Given the description of an element on the screen output the (x, y) to click on. 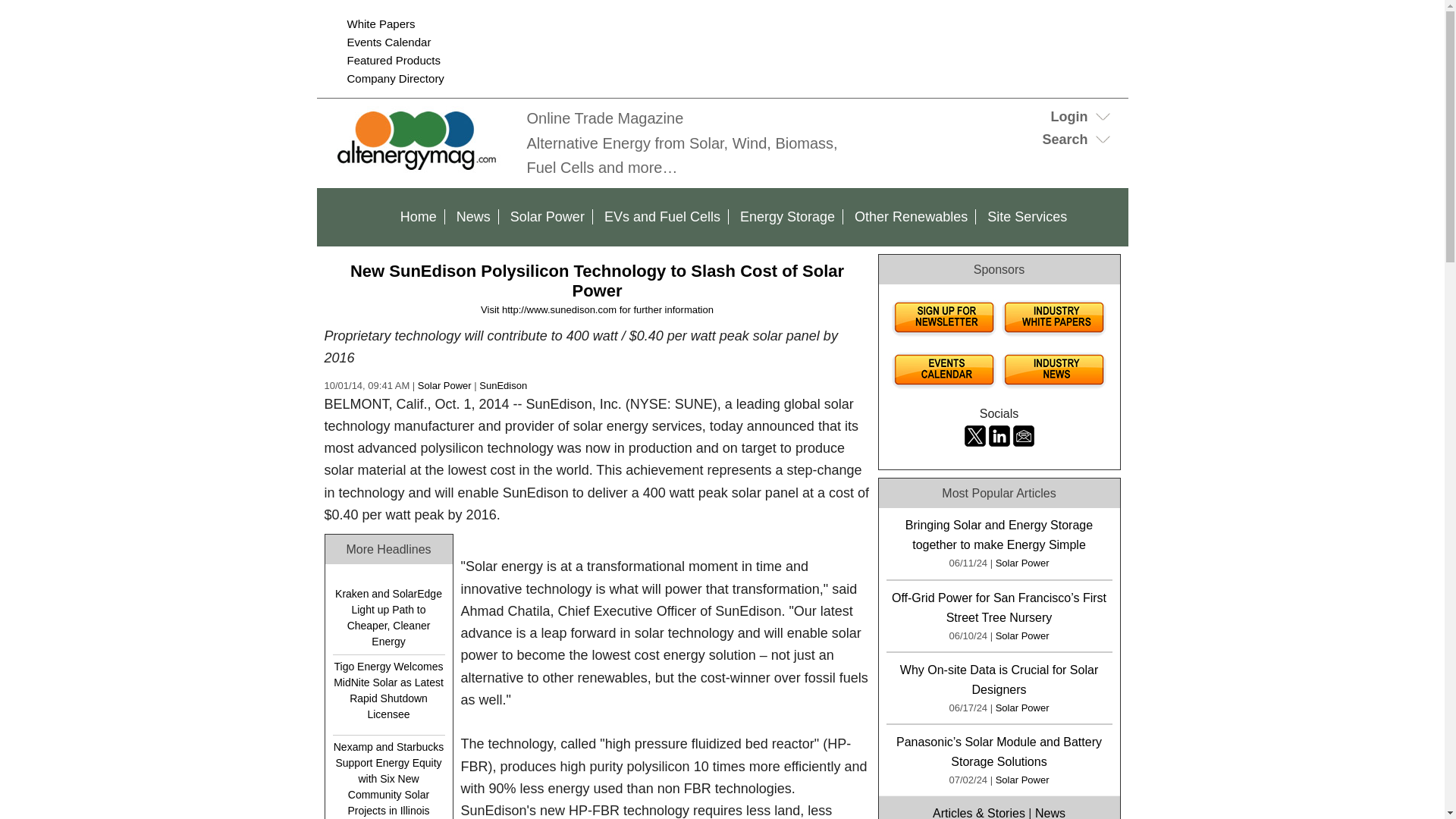
Site Services (1026, 217)
Featured Products (394, 60)
Solar Power (444, 384)
Home (418, 217)
EVs and Fuel Cells (662, 217)
Energy Storage (787, 217)
SunEdison (503, 384)
White Papers (380, 23)
Events Calendar (388, 42)
Solar Power (547, 217)
Company Directory (395, 78)
News (472, 217)
